Given the description of an element on the screen output the (x, y) to click on. 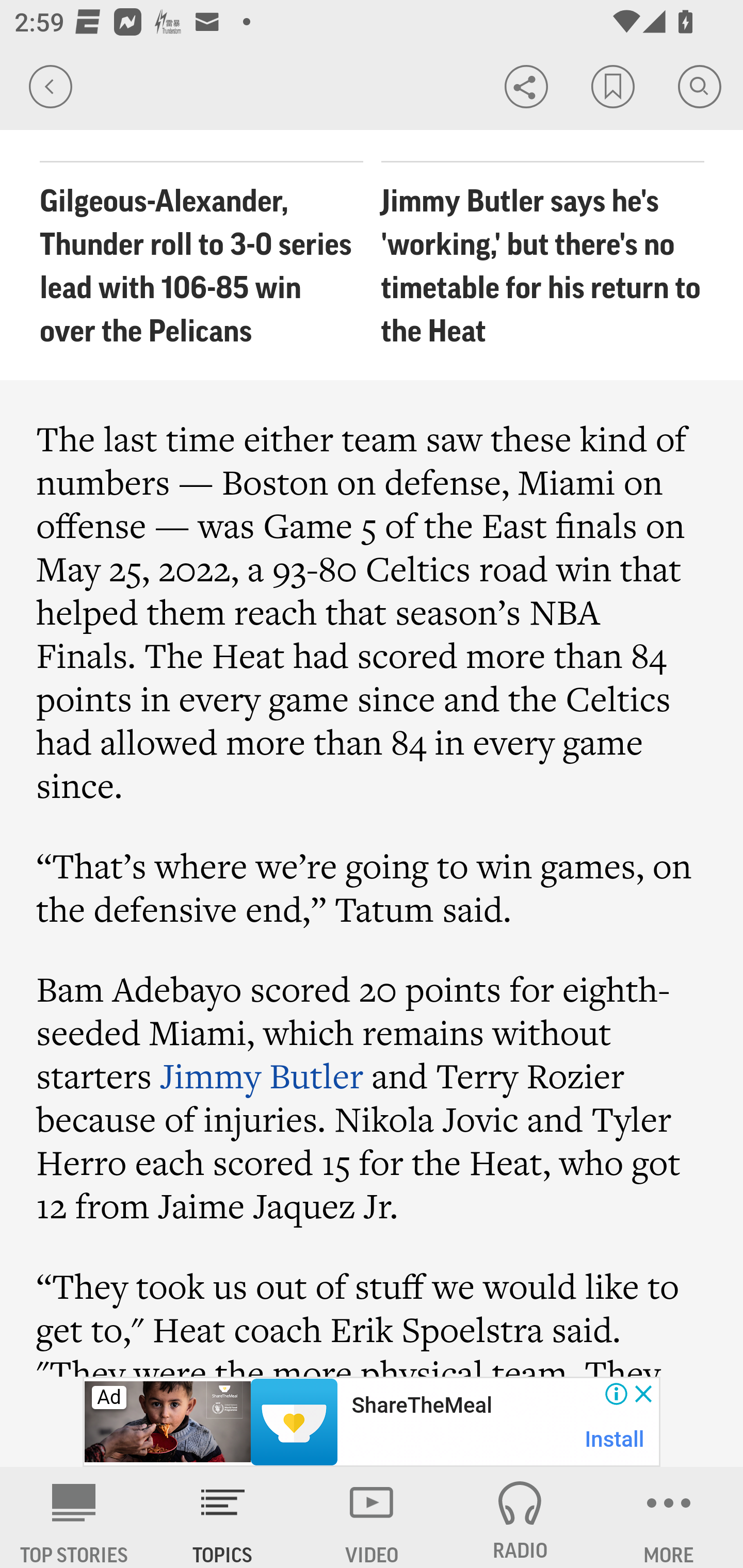
Jimmy Butler (261, 1076)
ShareTheMeal (420, 1405)
Install (614, 1438)
AP News TOP STORIES (74, 1517)
TOPICS (222, 1517)
VIDEO (371, 1517)
RADIO (519, 1517)
MORE (668, 1517)
